Given the description of an element on the screen output the (x, y) to click on. 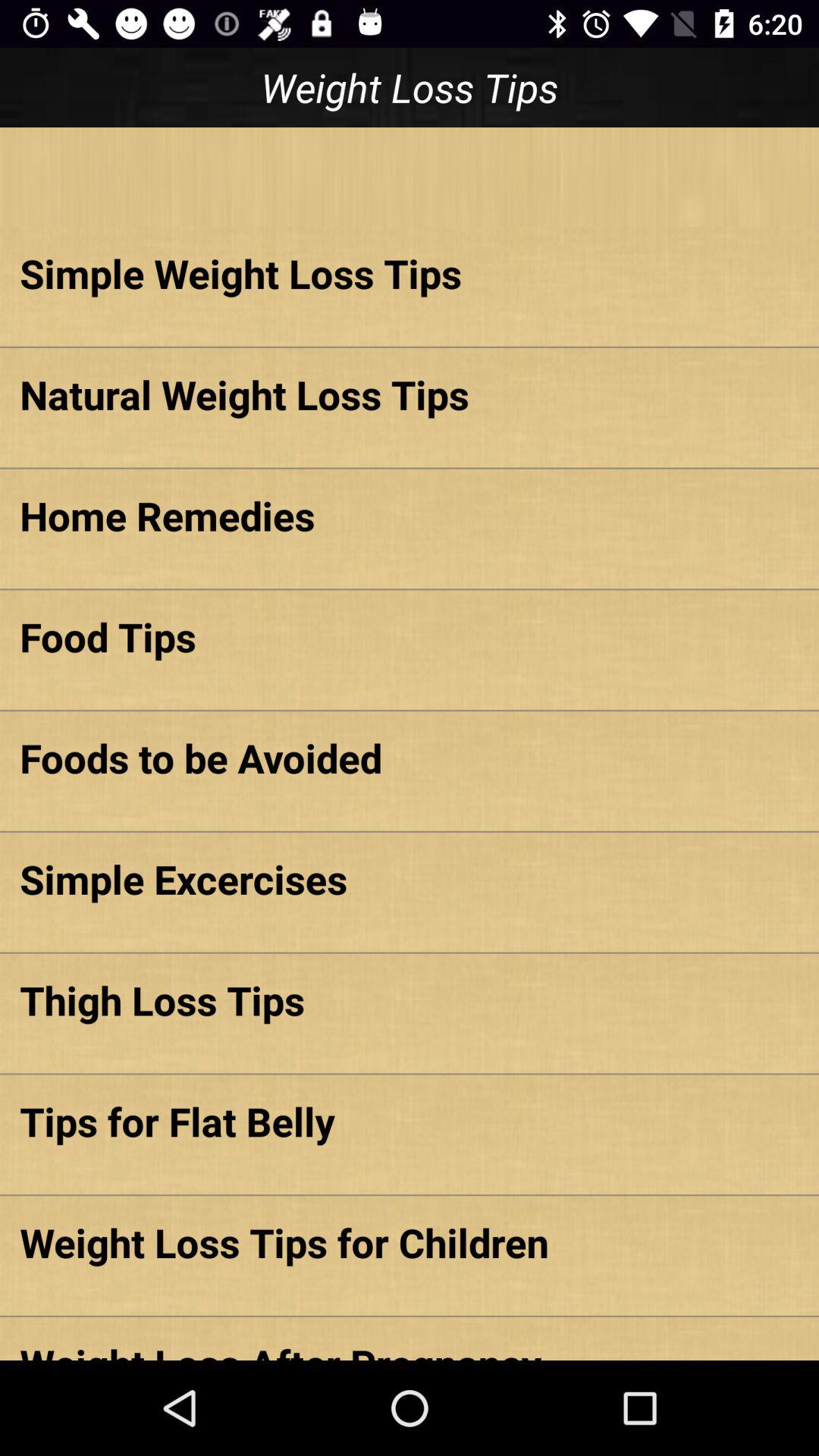
open the item below the home remedies (409, 636)
